Given the description of an element on the screen output the (x, y) to click on. 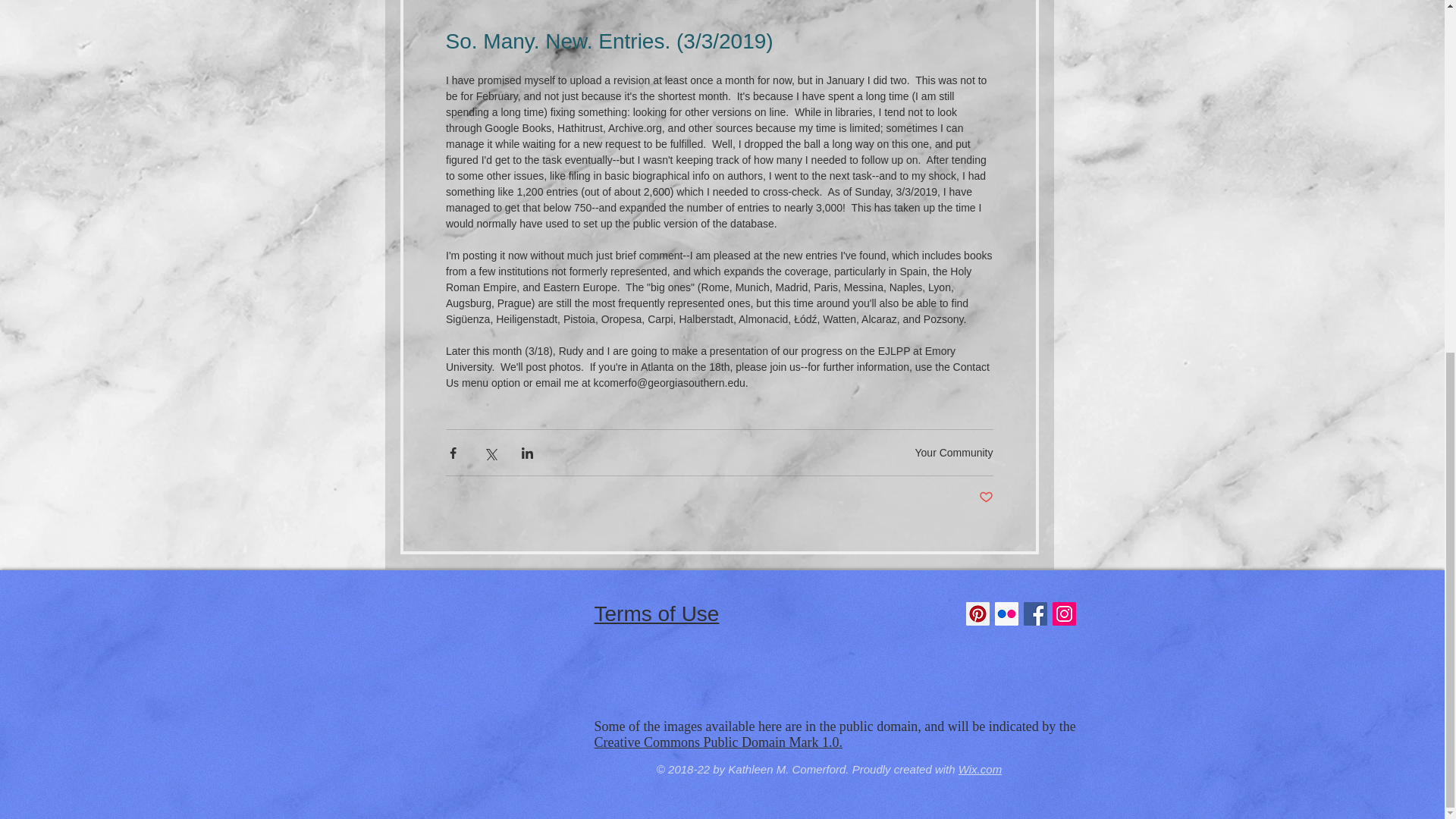
Post not marked as liked (985, 497)
Terms of Use (656, 613)
Wix.com (979, 768)
Your Community (953, 451)
Embedded Content (836, 689)
Creative Commons Public Domain Mark 1.0. (718, 742)
